Given the description of an element on the screen output the (x, y) to click on. 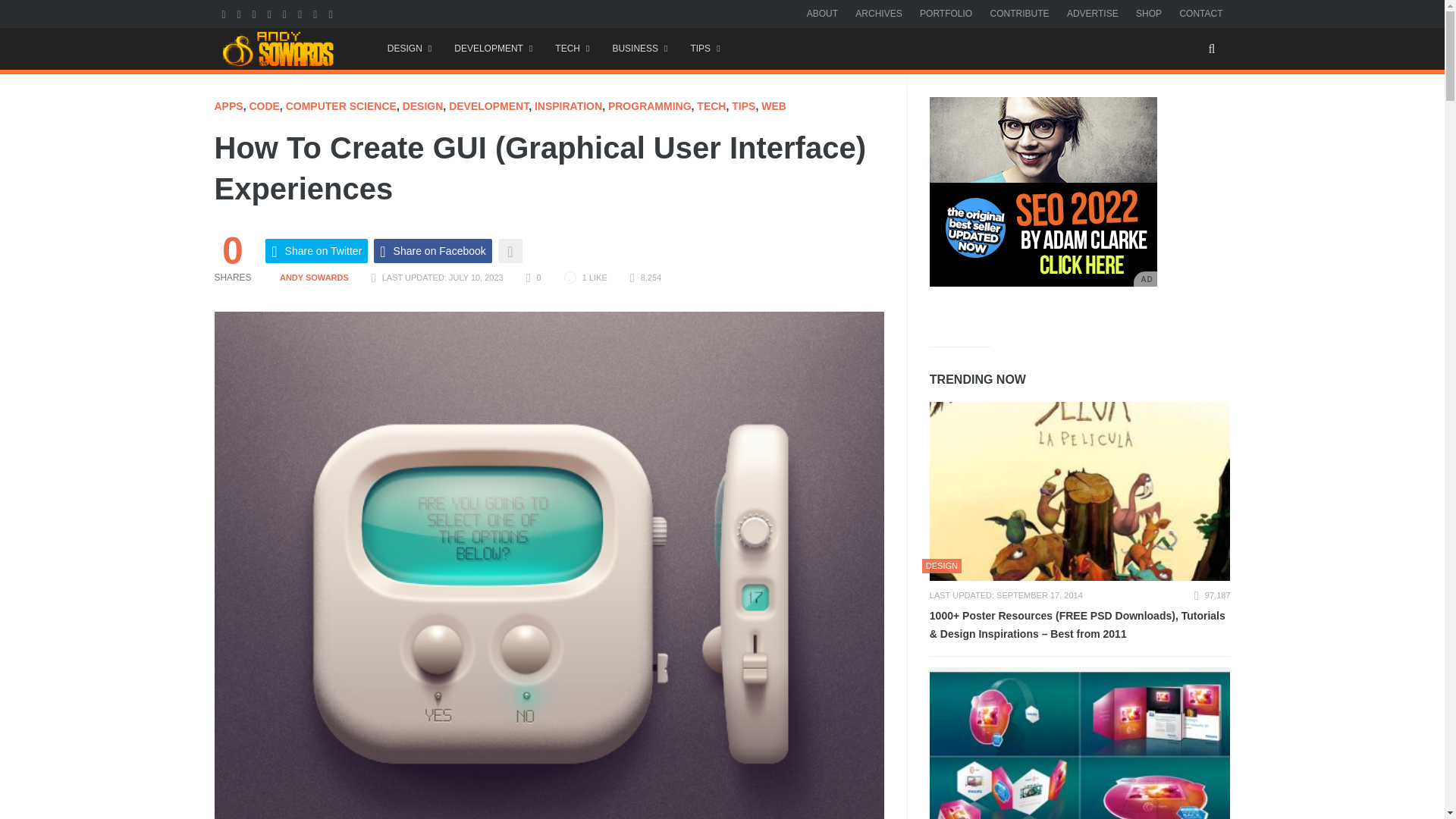
SHOP (1148, 13)
CONTRIBUTE (1019, 13)
DESIGN (408, 48)
DEVELOPMENT (493, 48)
BUSINESS (638, 48)
ARCHIVES (878, 13)
PORTFOLIO (946, 13)
CONTACT (1201, 13)
ADVERTISE (1092, 13)
ABOUT (822, 13)
Design (408, 48)
